Given the description of an element on the screen output the (x, y) to click on. 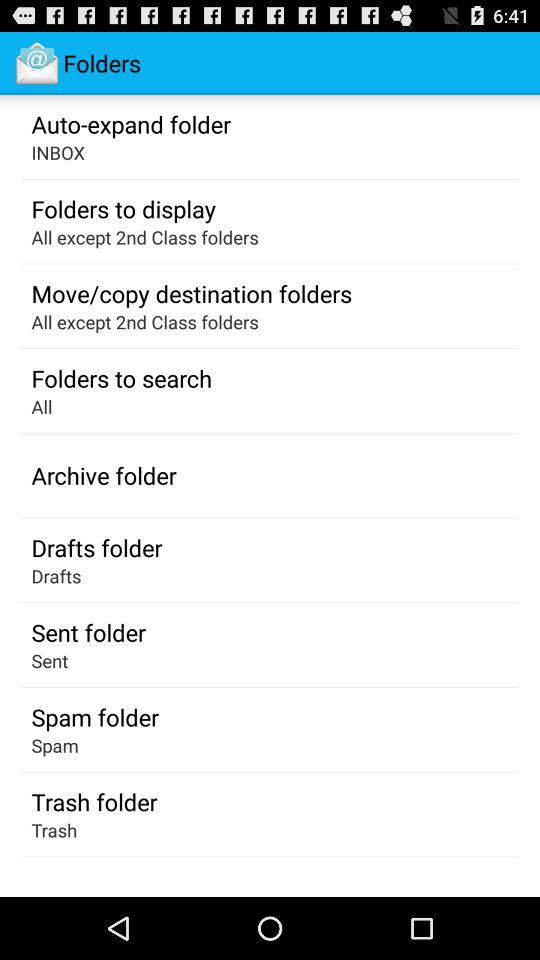
launch app below the all app (103, 475)
